Given the description of an element on the screen output the (x, y) to click on. 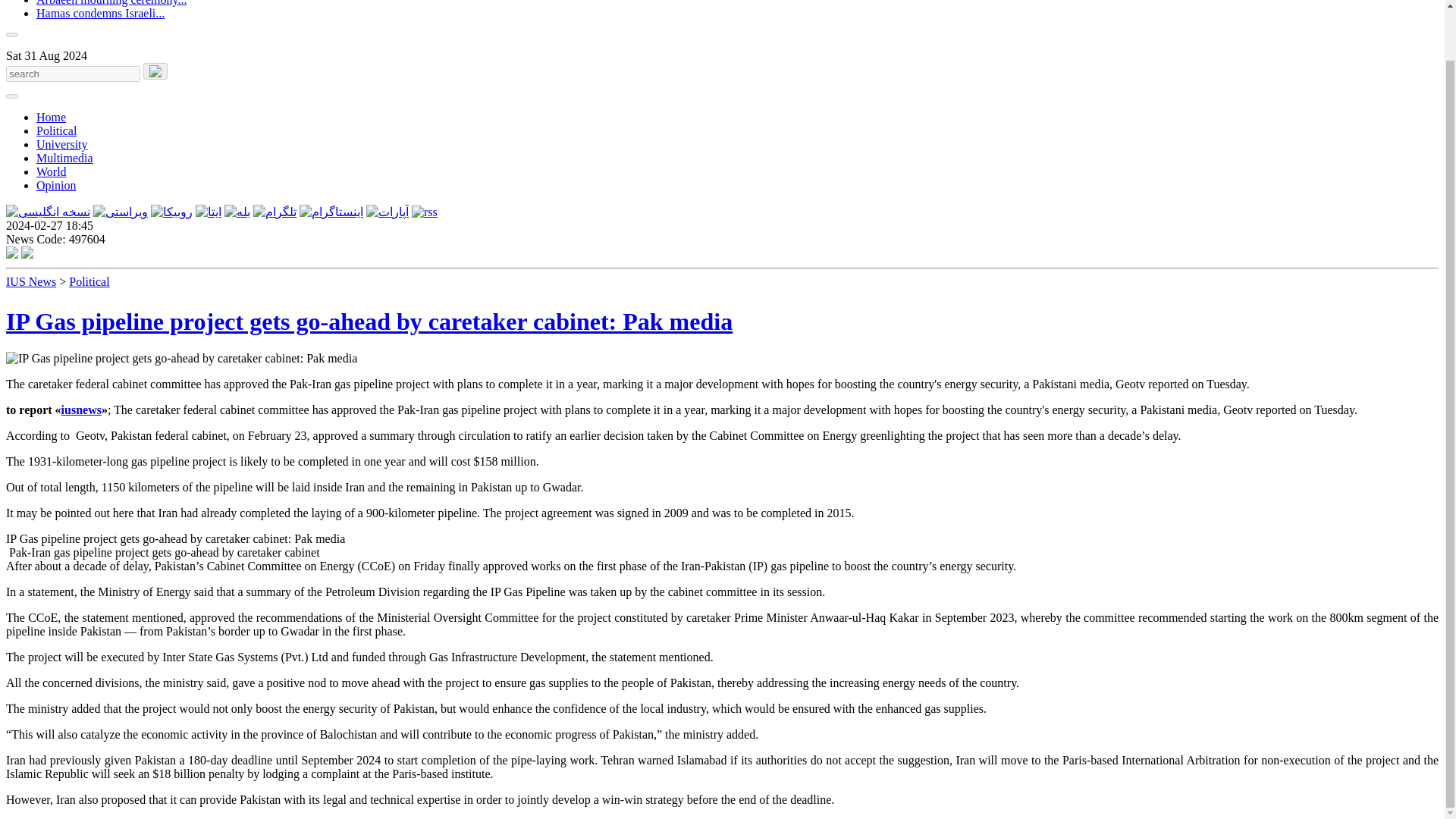
Hamas condemns Israeli... (100, 12)
IUS News (30, 281)
University (61, 144)
iusnews (81, 409)
Political (56, 130)
Opinion (55, 185)
Arbaeen mourning ceremony... (111, 2)
World (51, 171)
Home (50, 116)
